Given the description of an element on the screen output the (x, y) to click on. 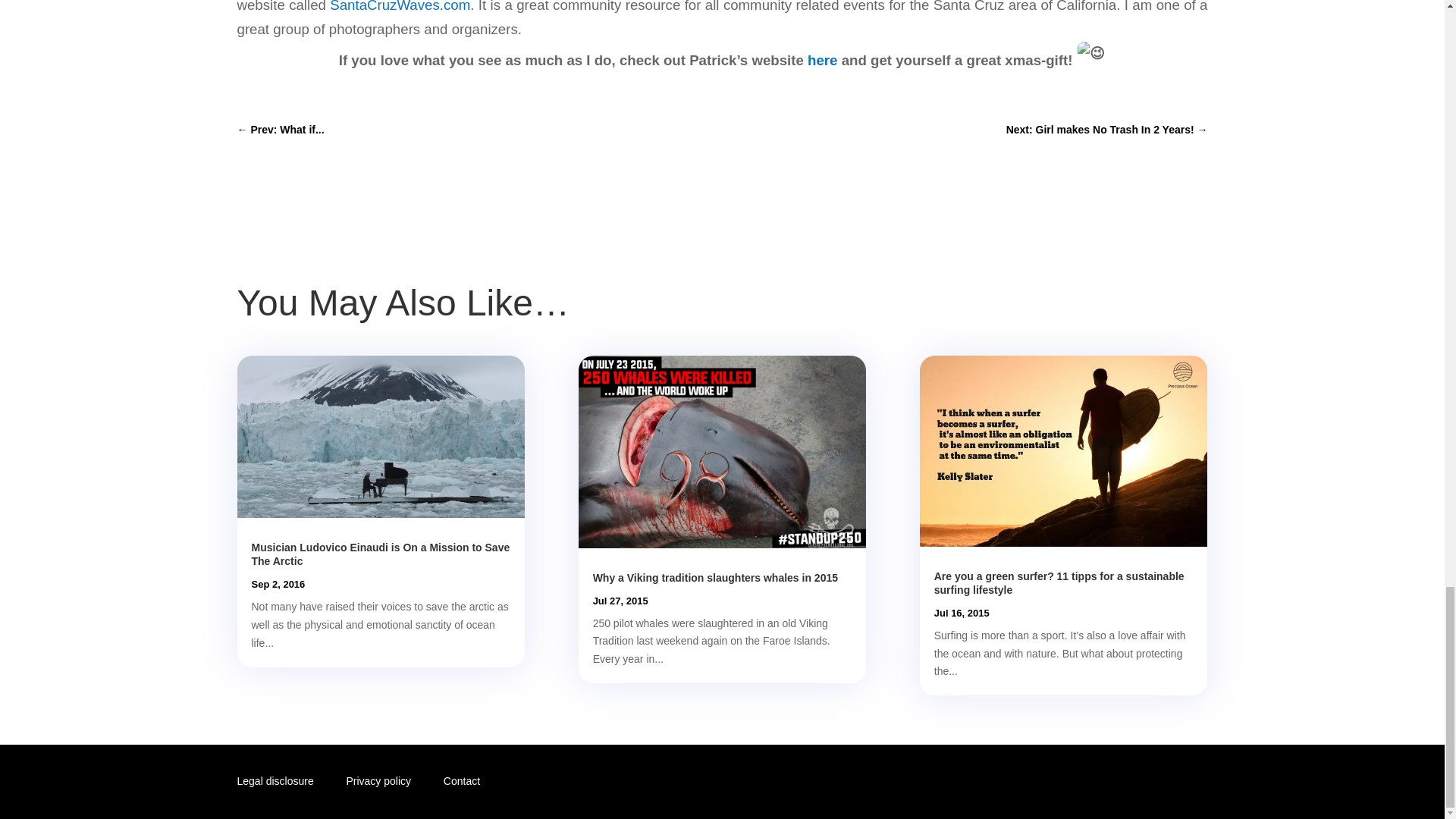
Musician Ludovico Einaudi is On a Mission to Save The Arctic (381, 554)
Privacy policy (378, 780)
Why a Viking tradition slaughters whales in 2015 (715, 577)
SantaCruzWaves.com (400, 6)
 here (820, 59)
Contact (462, 780)
Legal disclosure (274, 780)
